Given the description of an element on the screen output the (x, y) to click on. 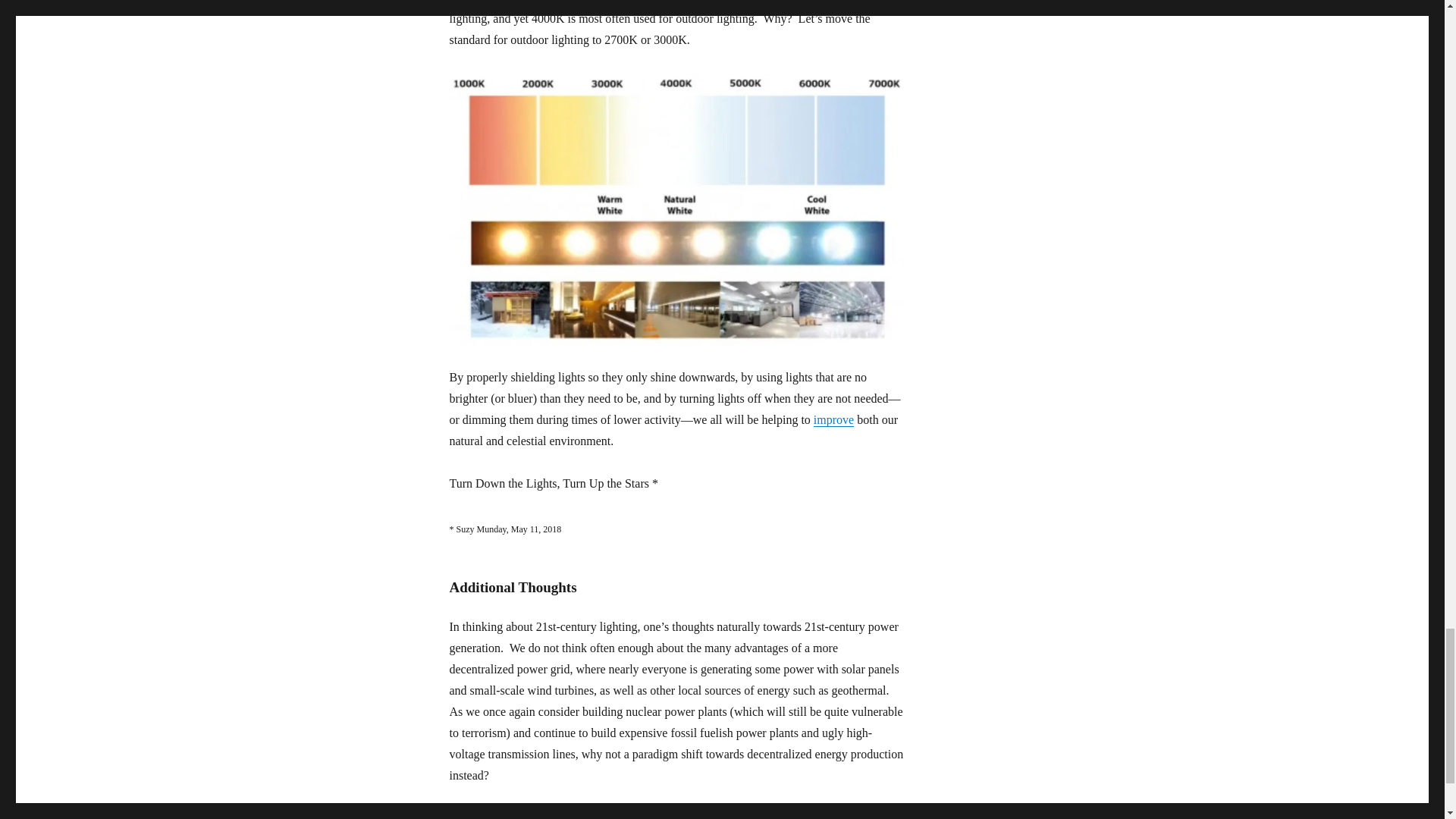
improve (833, 419)
